Given the description of an element on the screen output the (x, y) to click on. 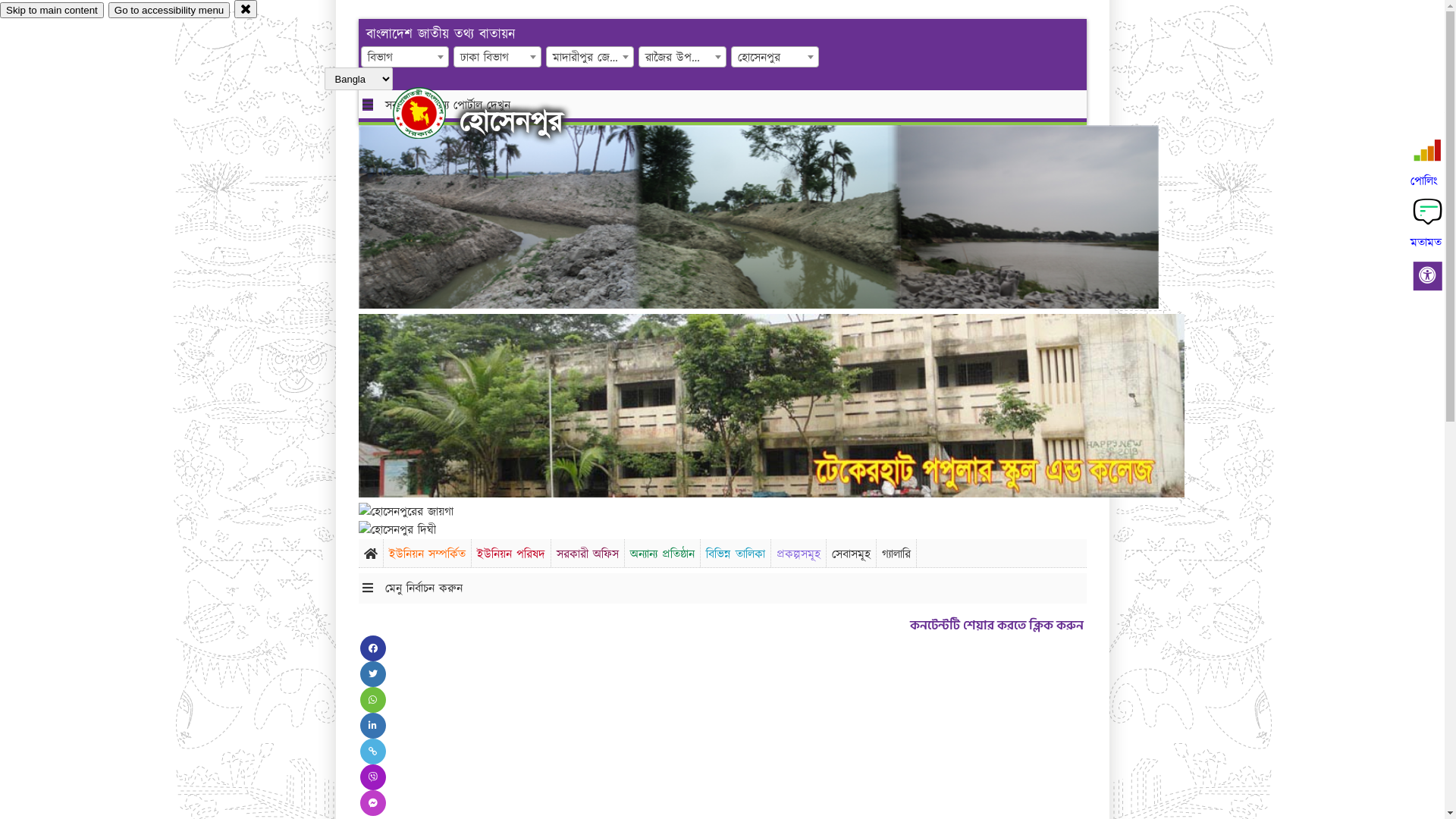
Go to accessibility menu Element type: text (168, 10)

                
             Element type: hover (431, 112)
close Element type: hover (245, 9)
Skip to main content Element type: text (51, 10)
